Given the description of an element on the screen output the (x, y) to click on. 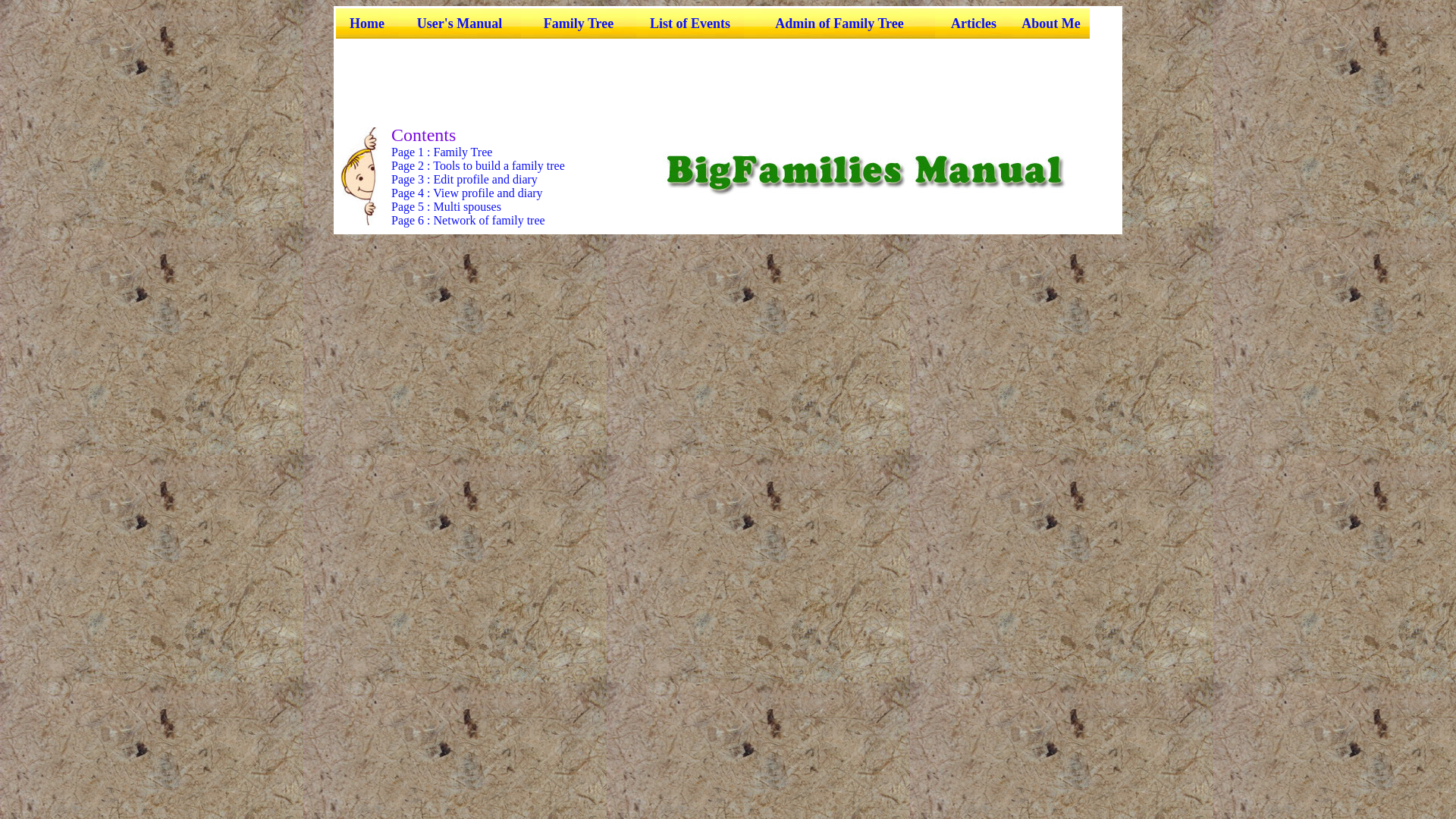
Page 1 : Family Tree (441, 151)
Page 6 : Network of family tree (467, 219)
Page 3 : Edit profile and diary (464, 178)
Page 2 : Tools to build a family tree (477, 164)
About Me (1051, 22)
Admin of Family Tree (839, 22)
User's Manual (459, 22)
Home (366, 22)
Family Tree (577, 22)
Page 5 : Multi spouses (445, 205)
